Given the description of an element on the screen output the (x, y) to click on. 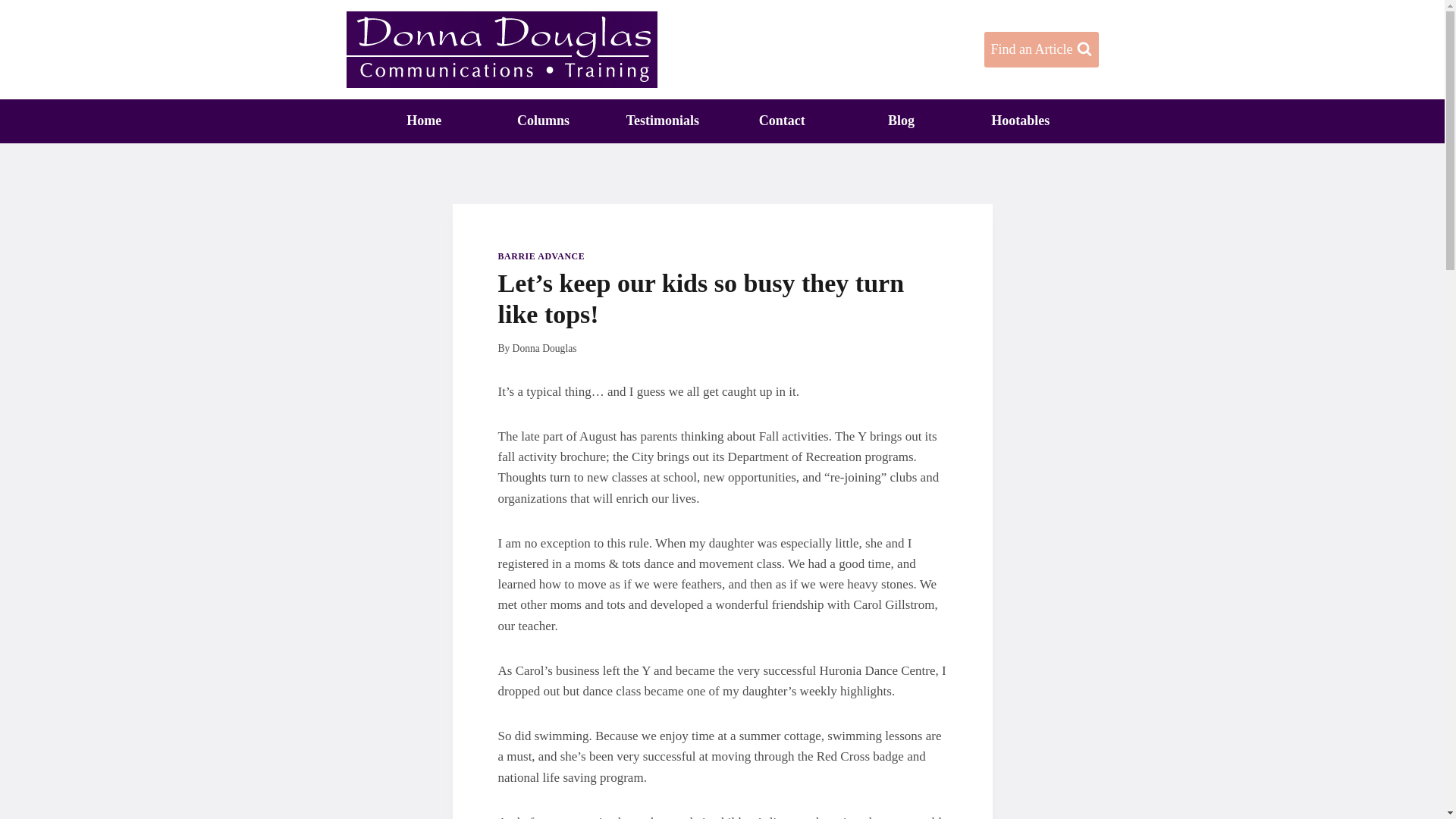
Home (423, 121)
Hootables (1020, 121)
Blog (900, 121)
Testimonials (662, 121)
Find an Article (1041, 49)
Contact (781, 121)
Donna Douglas (544, 348)
BARRIE ADVANCE (541, 255)
Columns (542, 121)
